Given the description of an element on the screen output the (x, y) to click on. 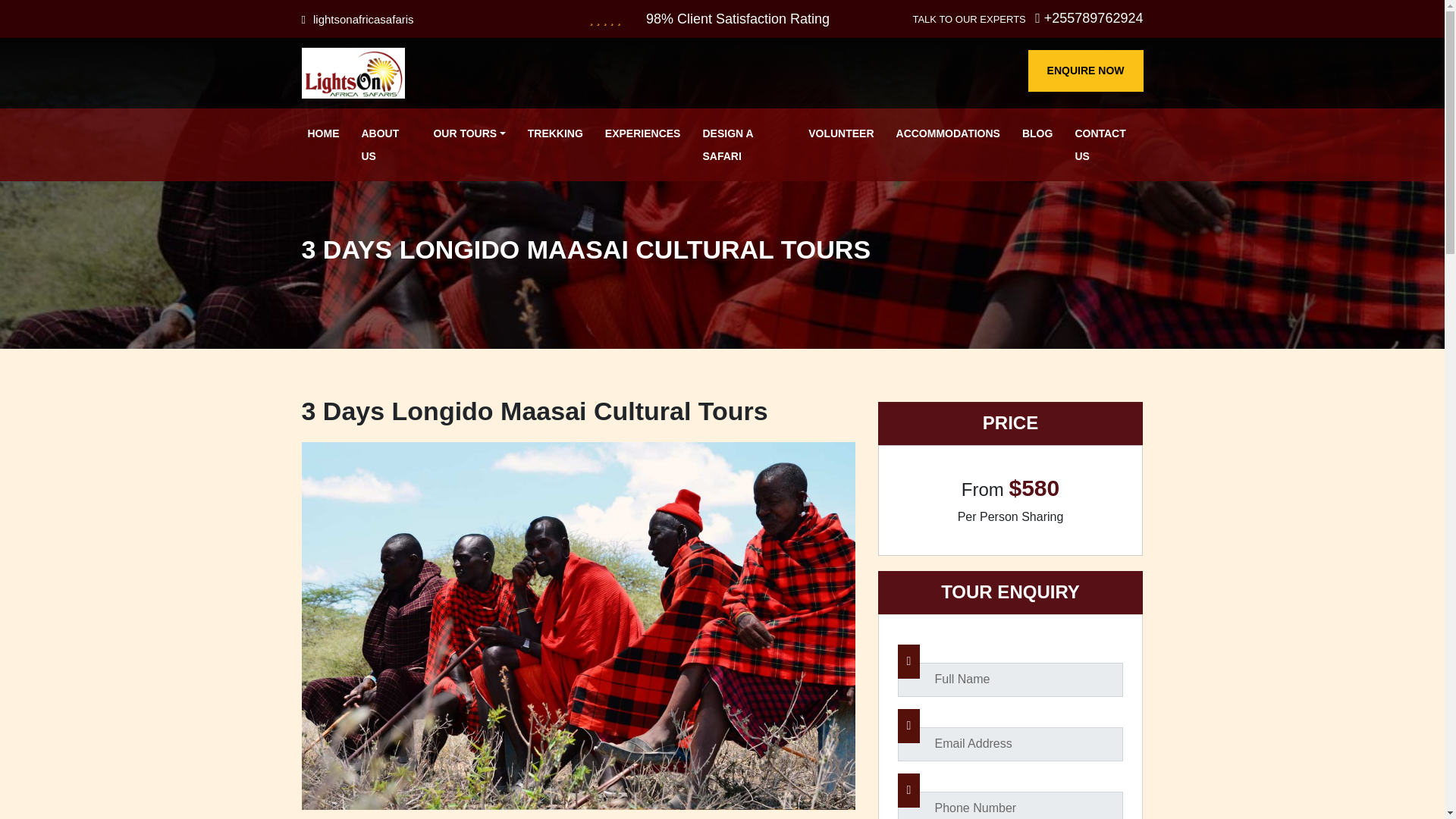
EXPERIENCES (642, 133)
TREKKING (555, 133)
DESIGN A SAFARI (743, 144)
ACCOMMODATIONS (947, 133)
lightsonafricasafaris (357, 18)
VOLUNTEER (840, 133)
HOME (323, 133)
OUR TOURS (468, 133)
ENQUIRE NOW (1084, 70)
ABOUT US (385, 144)
